Given the description of an element on the screen output the (x, y) to click on. 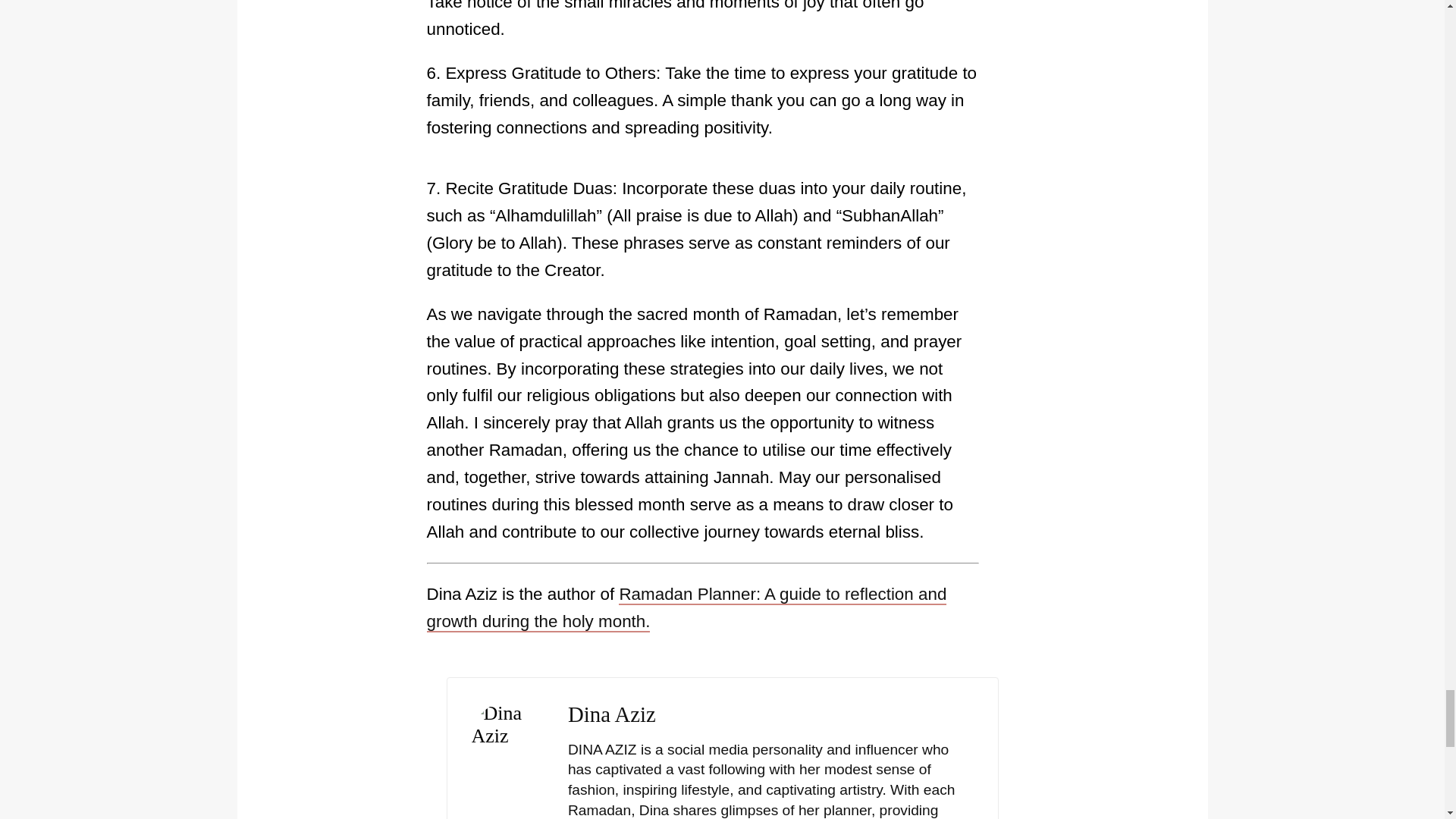
Dina Aziz (611, 713)
